Given the description of an element on the screen output the (x, y) to click on. 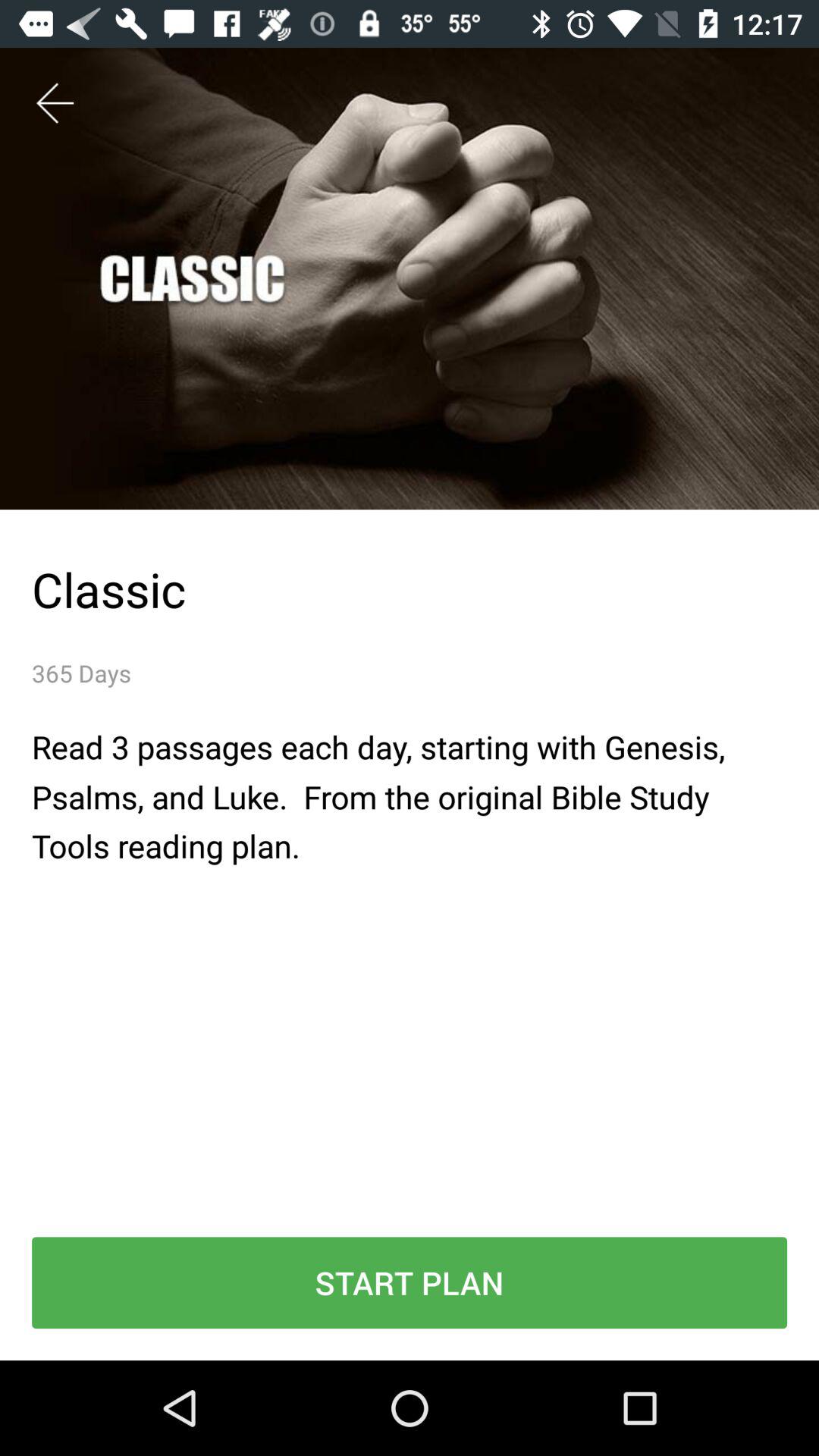
launch the icon below read 3 passages item (409, 1282)
